Given the description of an element on the screen output the (x, y) to click on. 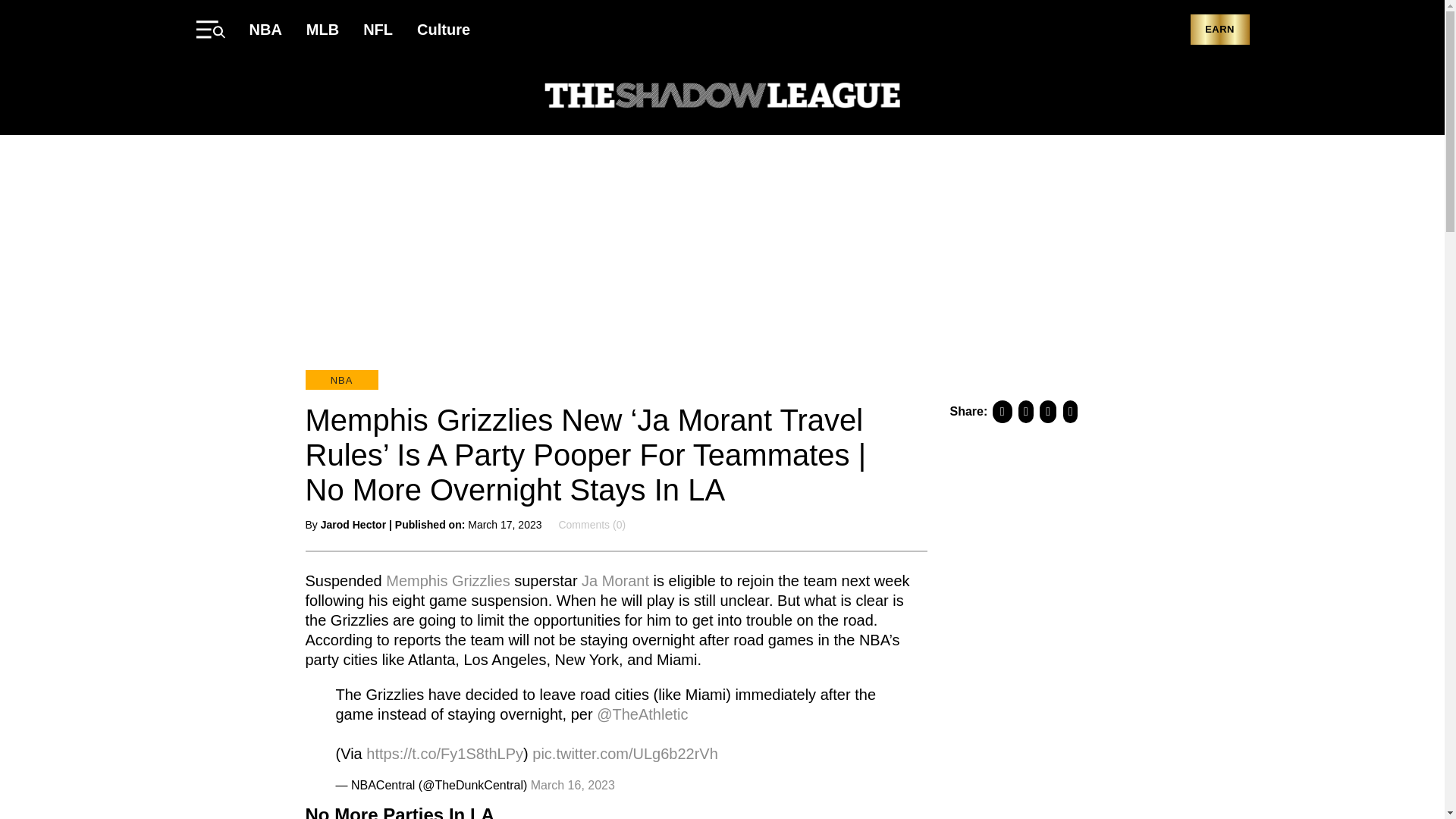
EARN (1220, 29)
Culture (443, 29)
Youtube (1210, 96)
Instagram (1240, 96)
NBA (340, 379)
Facebook (1149, 96)
NFL (377, 29)
Memphis Grizzlies (447, 579)
The Shadow League (721, 96)
Primary Menu (209, 29)
Ja Morant (614, 579)
Jarod Hector (352, 524)
MLB (322, 29)
Twitter (1179, 96)
NBA (264, 29)
